Given the description of an element on the screen output the (x, y) to click on. 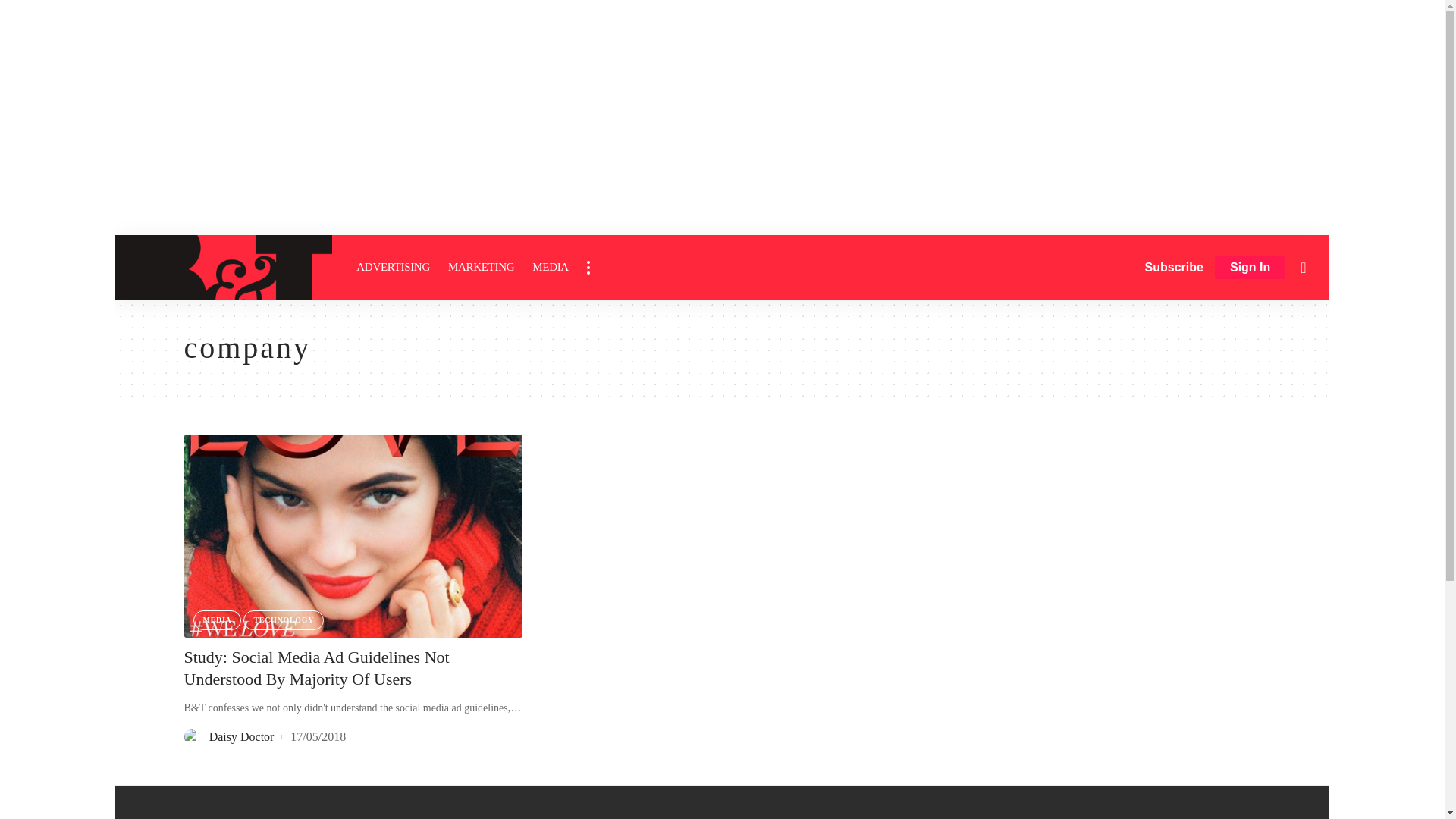
MARKETING (480, 267)
Sign In (1249, 267)
MEDIA (550, 267)
ADVERTISING (393, 267)
Subscribe (1174, 267)
